Given the description of an element on the screen output the (x, y) to click on. 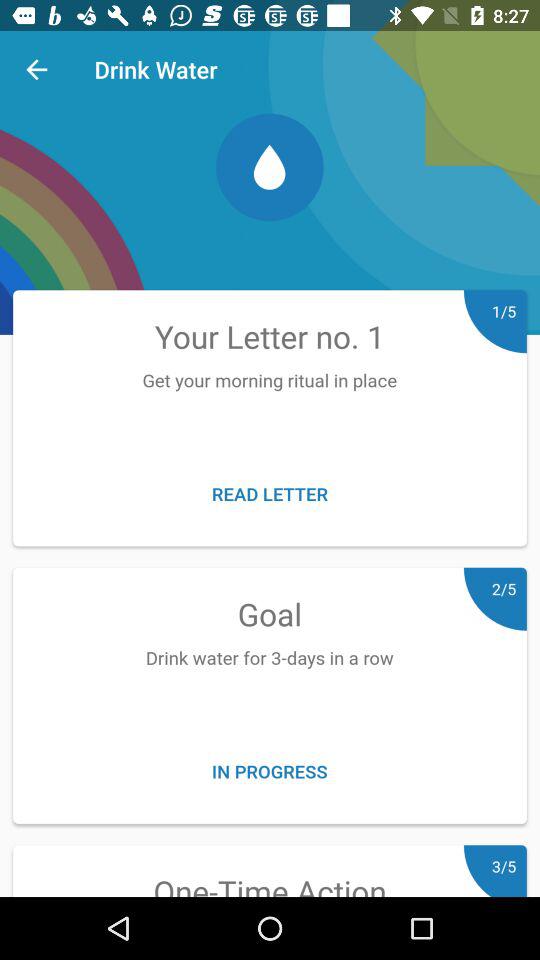
select the icon to the left of drink water icon (36, 69)
